Given the description of an element on the screen output the (x, y) to click on. 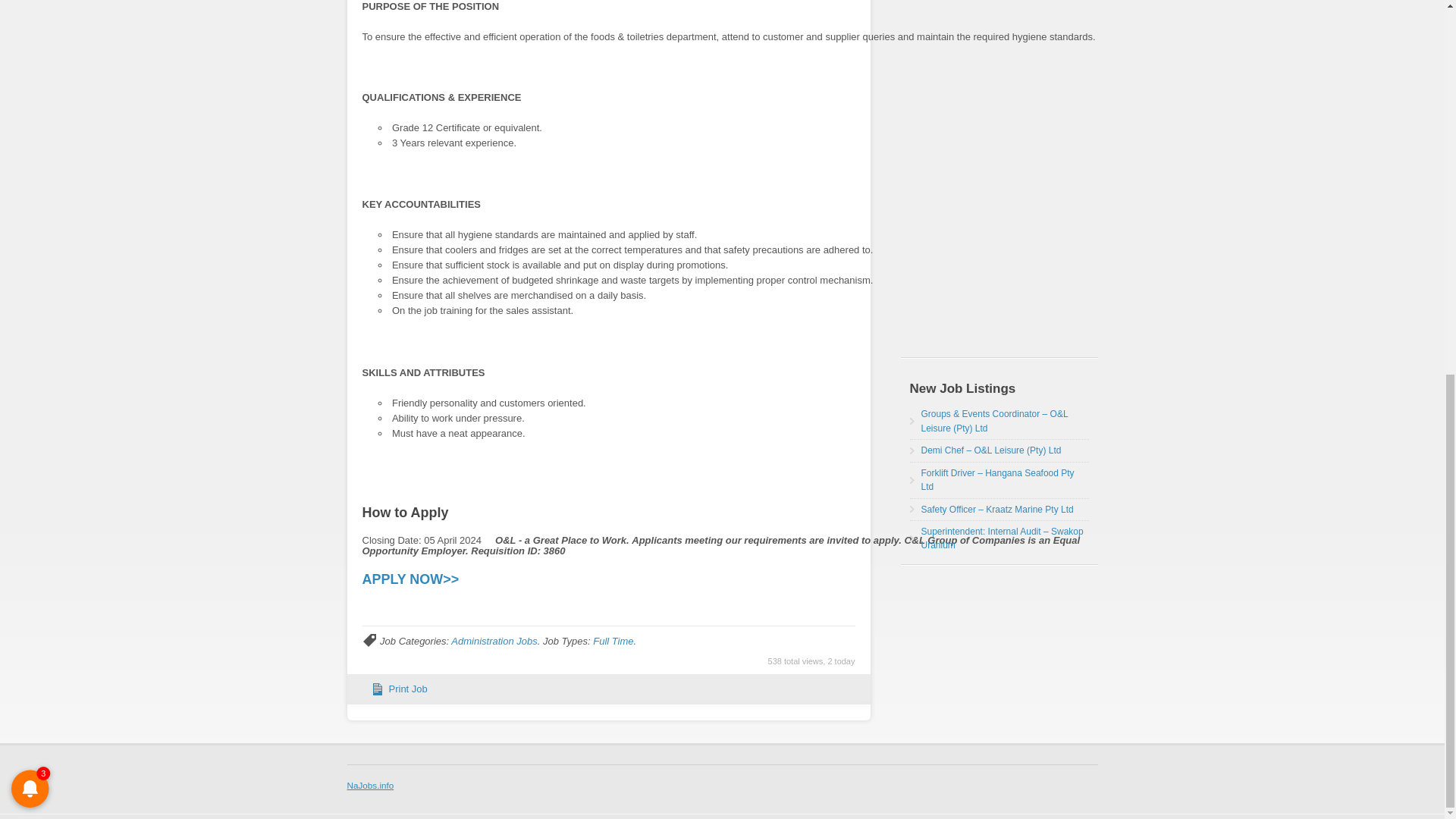
Administration Jobs (494, 641)
Print Job (407, 688)
Full Time (612, 641)
